Given the description of an element on the screen output the (x, y) to click on. 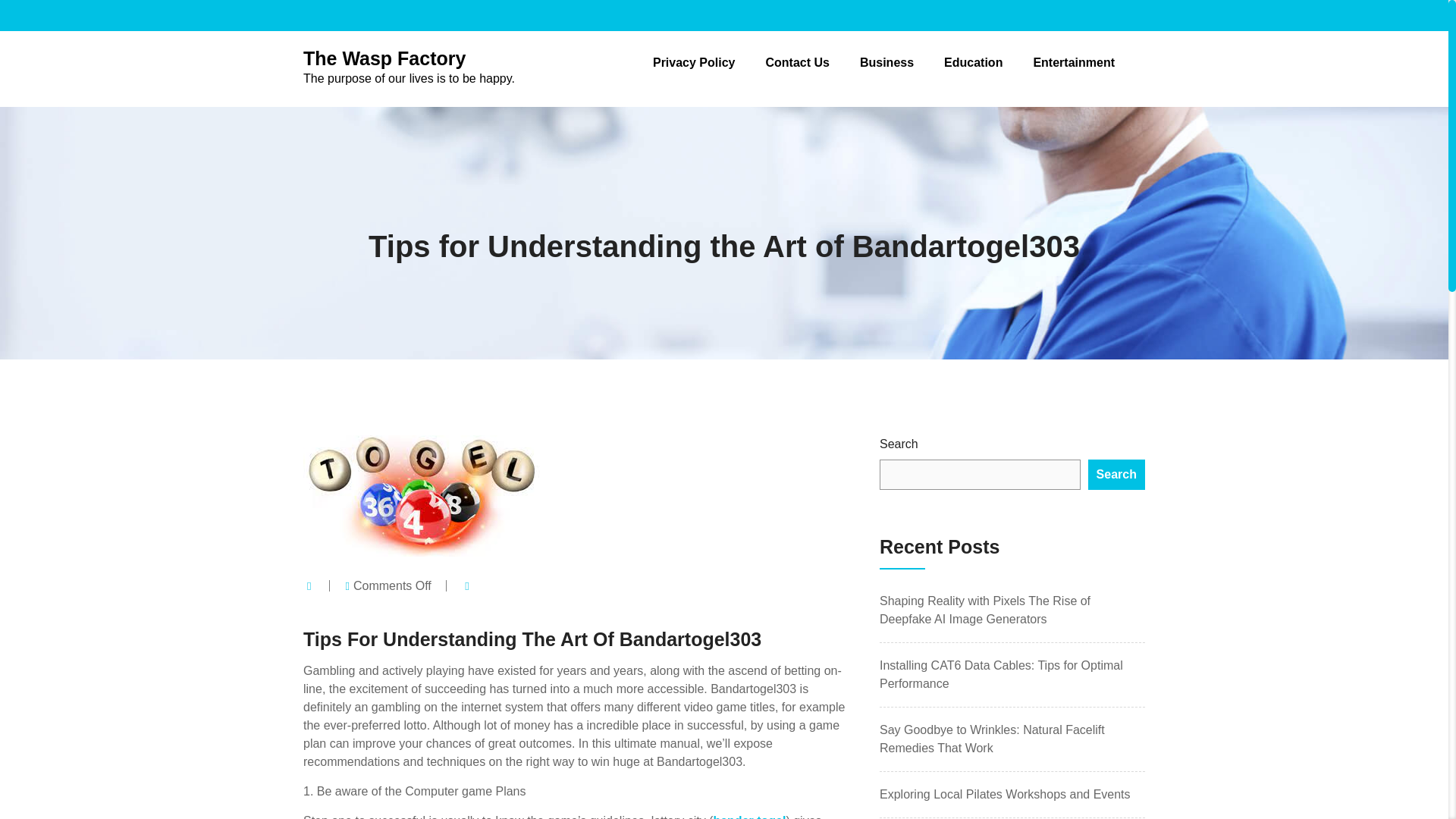
Business (887, 62)
Say Goodbye to Wrinkles: Natural Facelift Remedies That Work (992, 738)
Education (408, 66)
Exploring Local Pilates Workshops and Events (973, 62)
Privacy Policy (1005, 793)
Contact Us (693, 62)
bandar togel (796, 62)
Entertainment (749, 816)
Search (1073, 62)
